Given the description of an element on the screen output the (x, y) to click on. 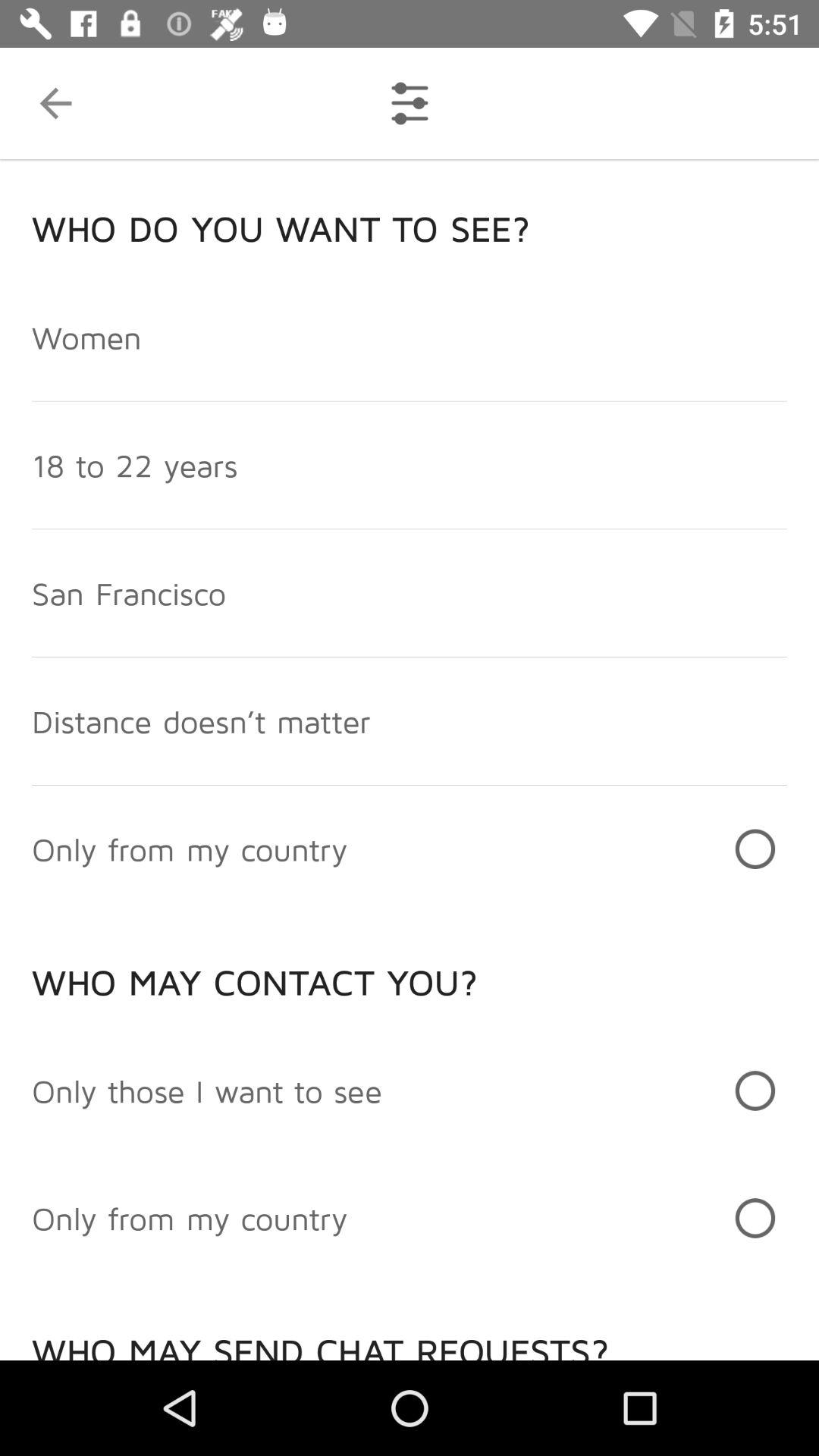
press san francisco item (128, 592)
